Given the description of an element on the screen output the (x, y) to click on. 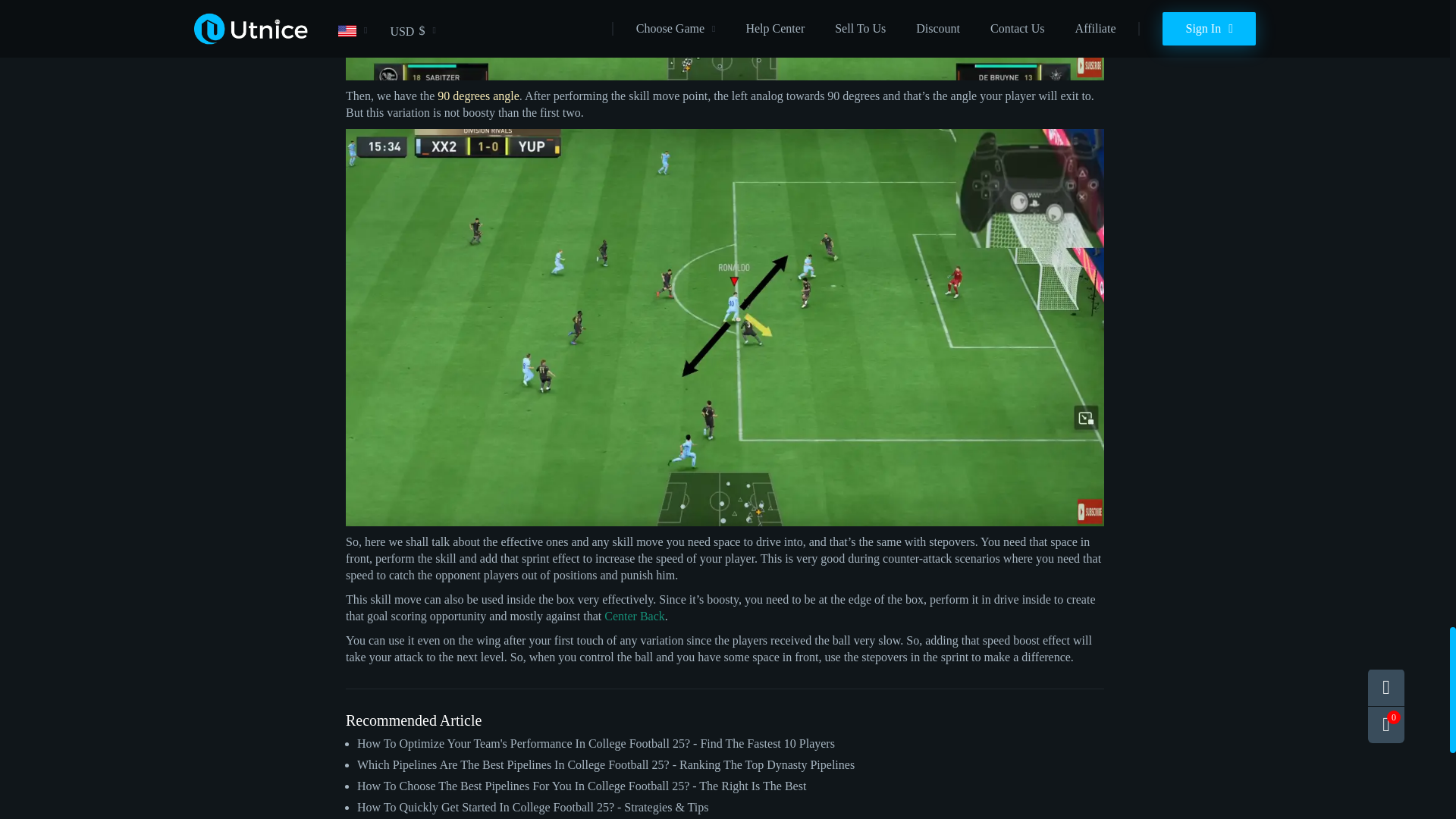
FIFA 23 Stepovers 60 Degrees Angle (724, 40)
